Given the description of an element on the screen output the (x, y) to click on. 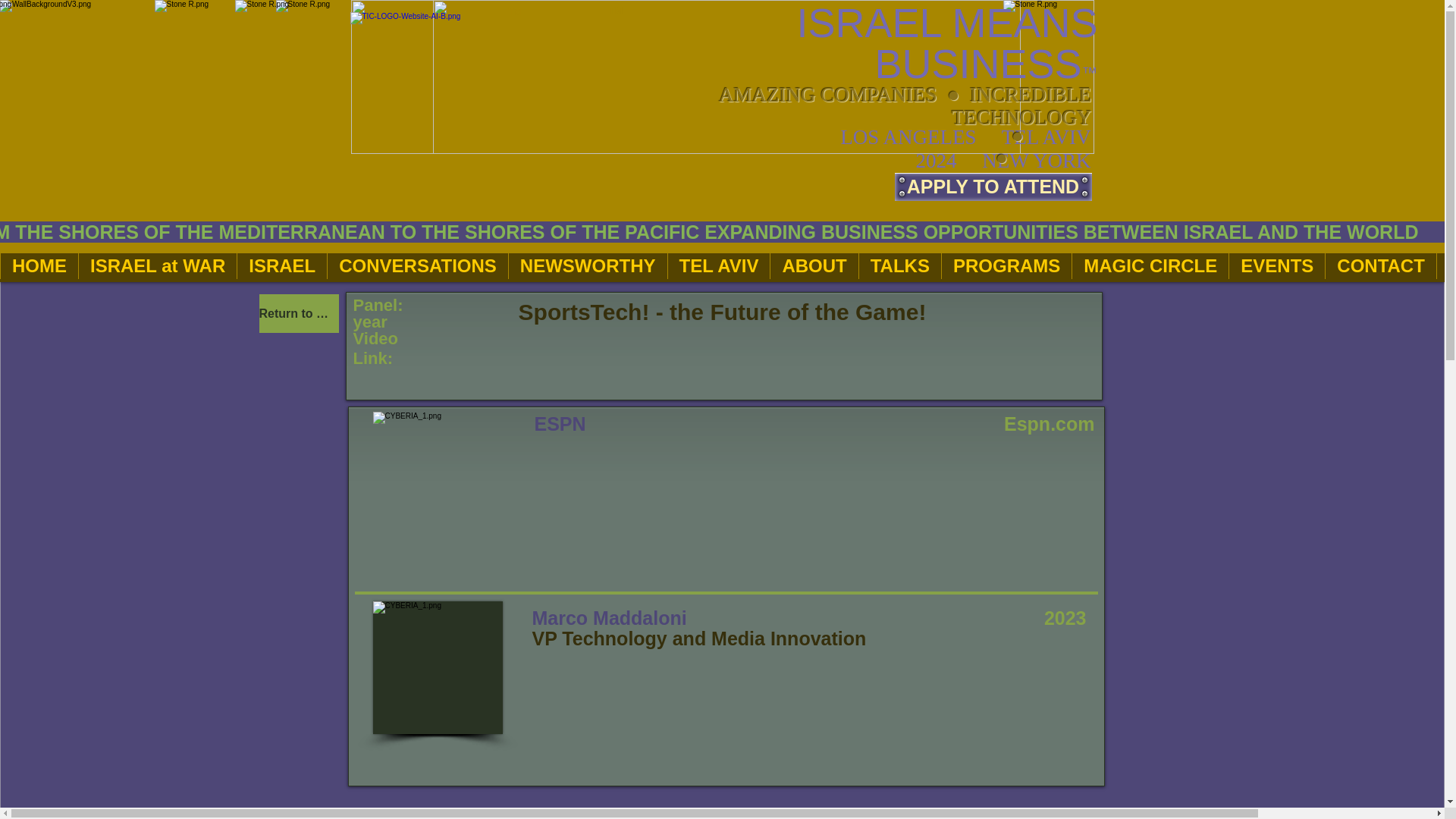
ISRAEL at WAR (156, 267)
TALKS (899, 267)
HOME (39, 267)
CONVERSATIONS (417, 267)
ABOUT (813, 267)
espn.png (437, 474)
APPLY TO ATTEND (993, 186)
CONTACT (1379, 267)
TEL AVIV (718, 267)
ISRAEL (280, 267)
PROGRAMS (1005, 267)
EVENTS (1276, 267)
Return to Panels (299, 313)
NEWSWORTHY (587, 267)
MAGIC CIRCLE (1149, 267)
